Given the description of an element on the screen output the (x, y) to click on. 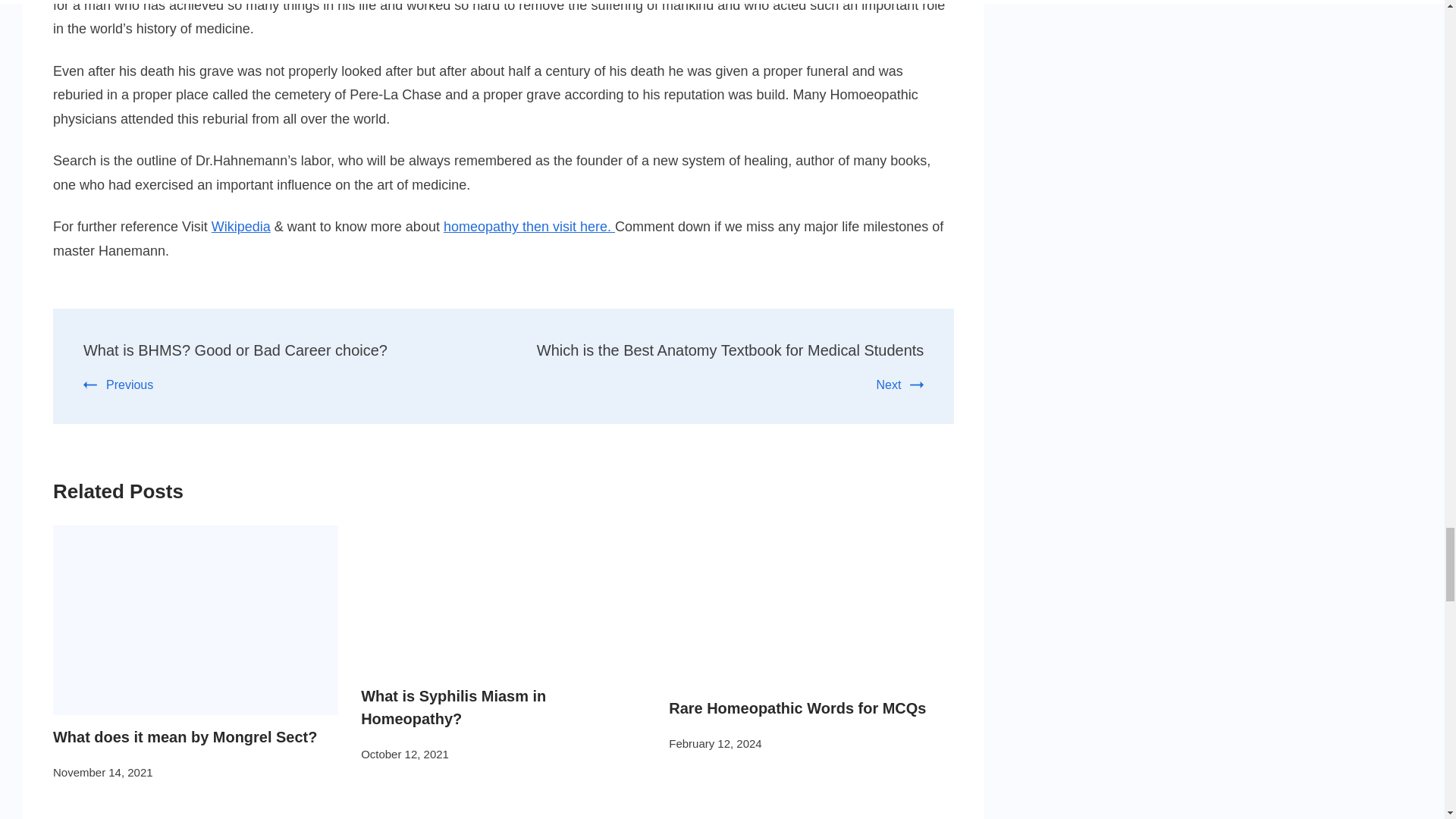
homeopathy then visit here. (529, 226)
Wikipedia (240, 226)
Previous (117, 384)
What is BHMS? Good or Bad Career choice? (234, 350)
